Given the description of an element on the screen output the (x, y) to click on. 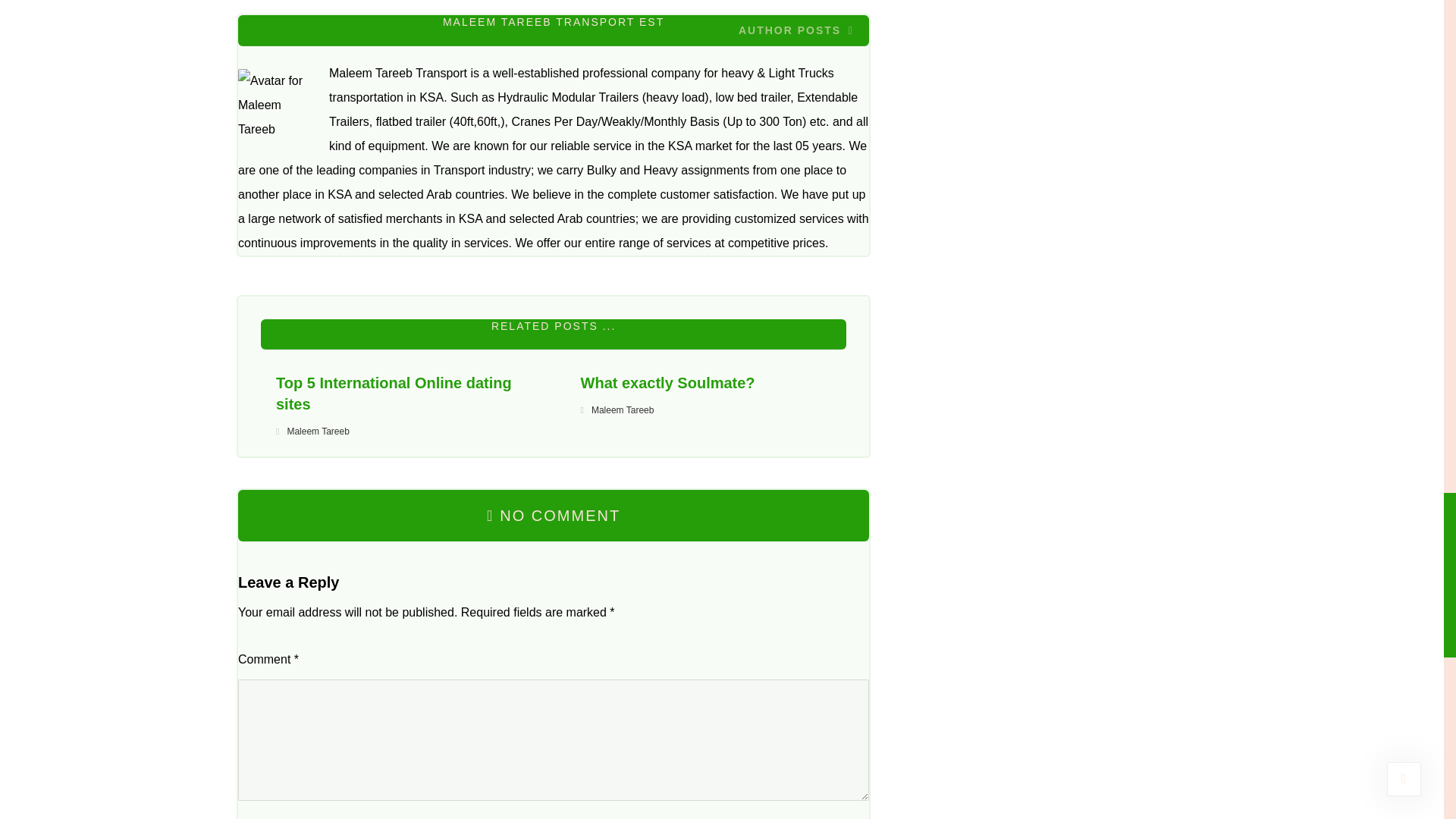
AUTHOR POSTS (795, 30)
Top 5 International Online dating sites (400, 393)
Gravatar for Maleem Tareeb Transport Est (276, 106)
